Given the description of an element on the screen output the (x, y) to click on. 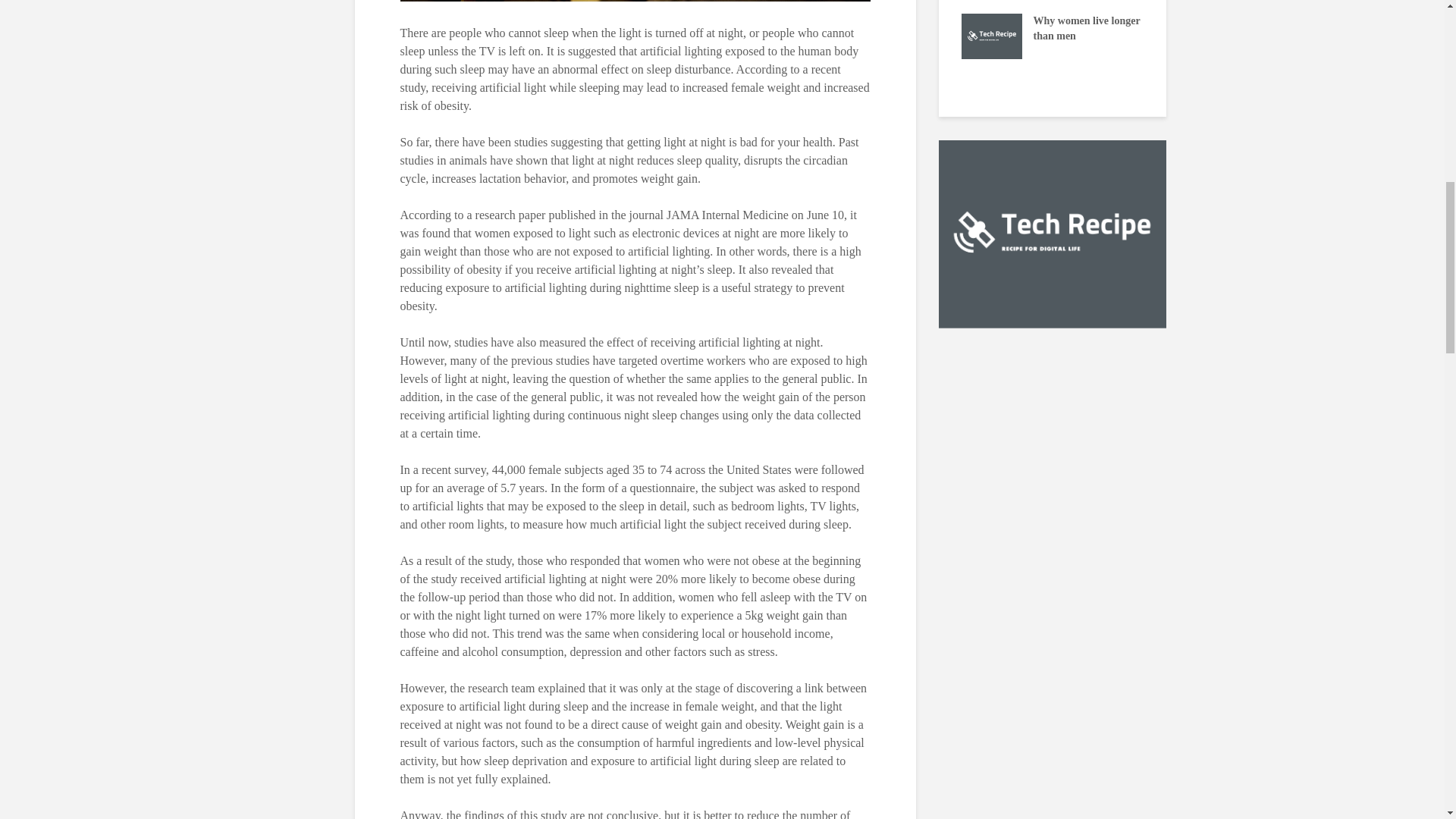
Why women live longer than men (991, 34)
